Given the description of an element on the screen output the (x, y) to click on. 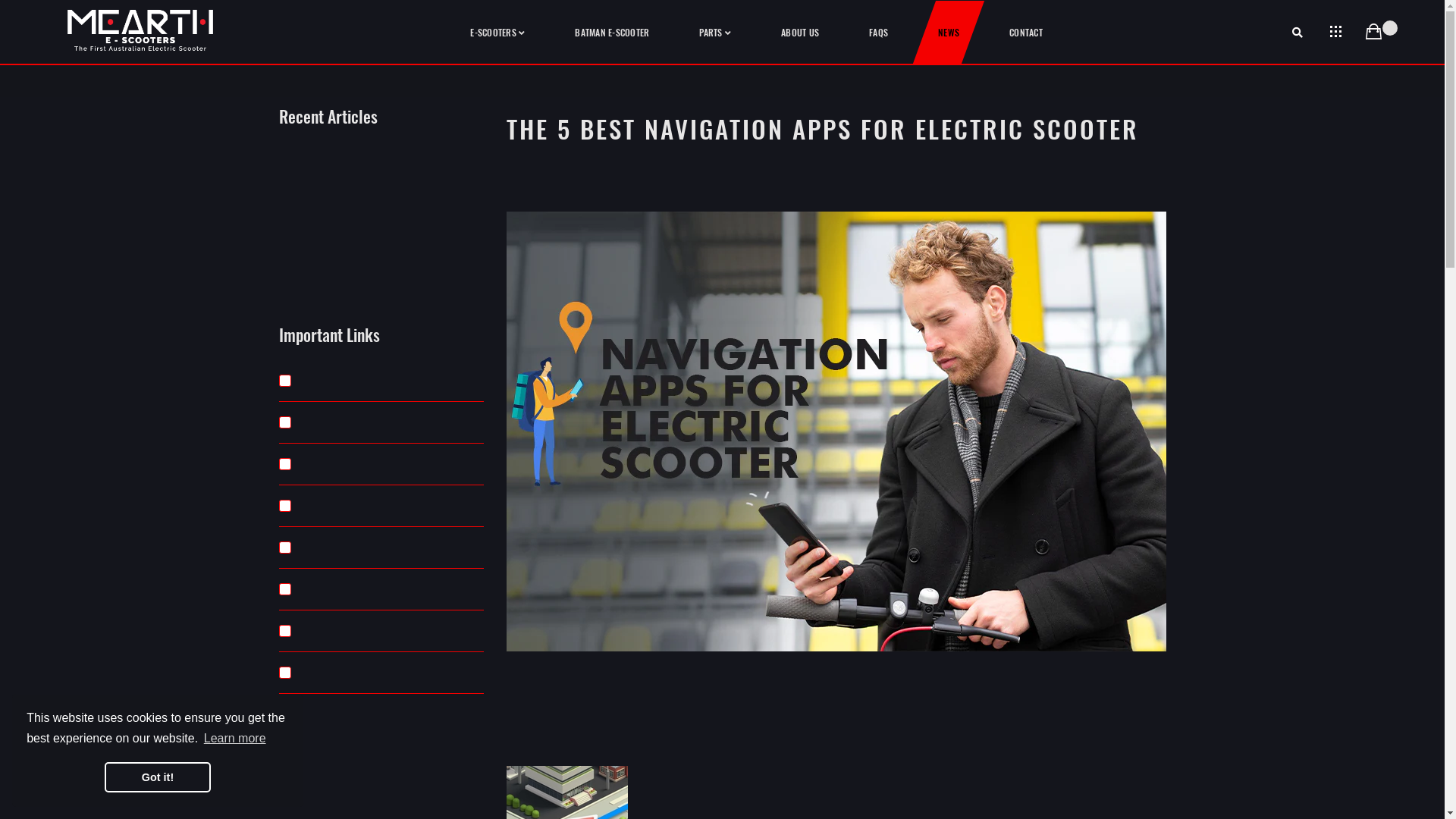
Learn more Element type: text (234, 738)
E-SCOOTERS Element type: text (497, 32)
Got it! Element type: text (157, 777)
0 Element type: text (1373, 32)
Warranty Registration Element type: text (381, 589)
CONTACT Element type: text (1025, 31)
Gallery Element type: text (381, 422)
Terms Of Service Element type: text (381, 672)
Shop Element type: text (381, 380)
PARTS Element type: text (714, 32)
NEWS Element type: text (948, 31)
ABOUT US Element type: text (799, 31)
Become An Affiliate Marketer Element type: text (381, 506)
Partners Element type: text (381, 464)
FAQS Element type: text (878, 31)
Schedule A Test Ride Element type: text (381, 631)
Request For A Repair Element type: text (381, 547)
BATMAN E-SCOOTER Element type: text (611, 31)
